Given the description of an element on the screen output the (x, y) to click on. 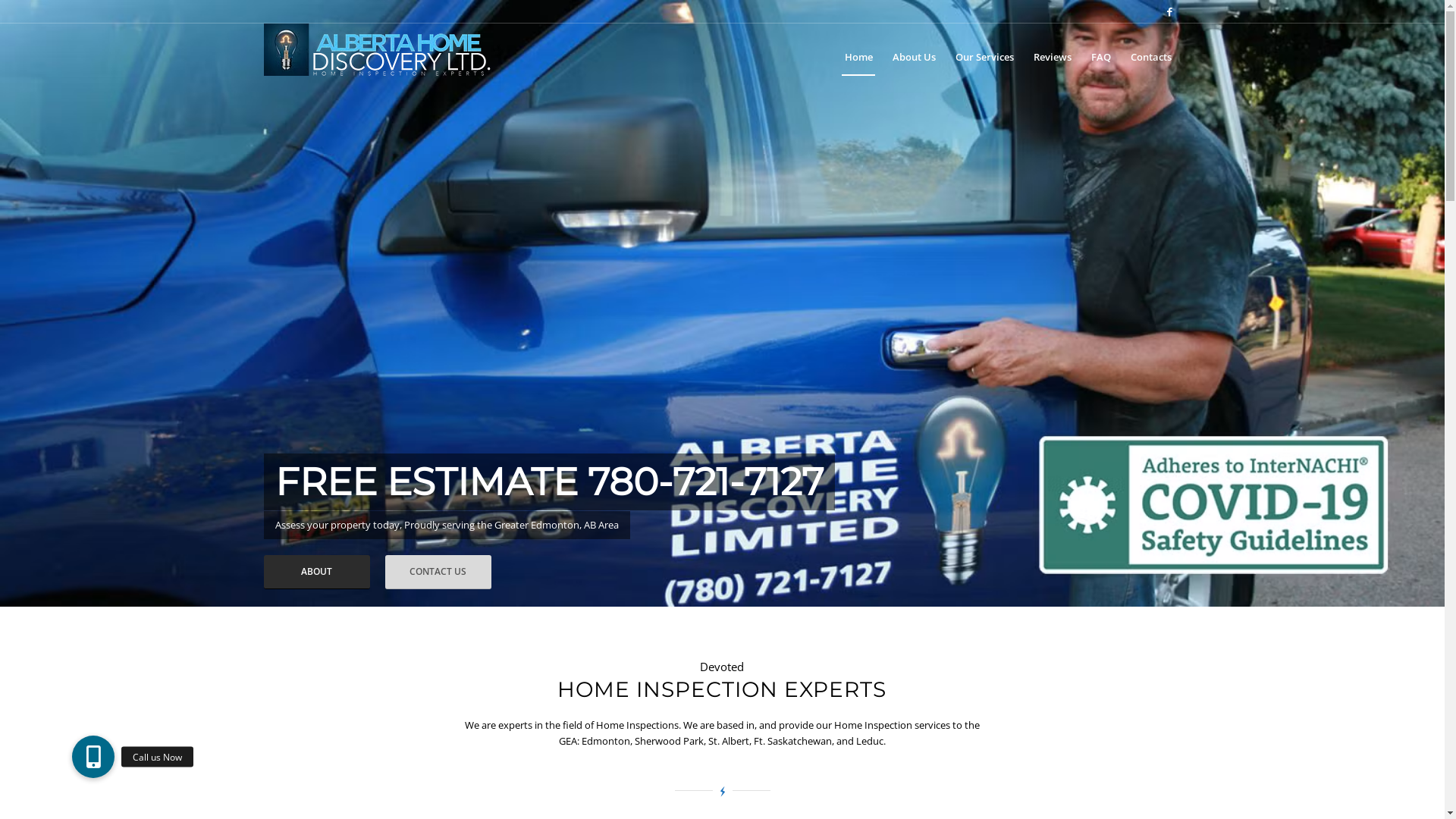
FAQ Element type: text (1100, 56)
Call us Now Element type: text (93, 756)
Reviews Element type: text (1052, 56)
Contacts Element type: text (1150, 56)
CONTACT US Element type: text (438, 572)
al1 Element type: hover (722, 303)
About Us Element type: text (913, 56)
Facebook Element type: hover (1169, 11)
Home Element type: text (857, 56)
ABOUT Element type: text (316, 572)
Our Services Element type: text (983, 56)
